Given the description of an element on the screen output the (x, y) to click on. 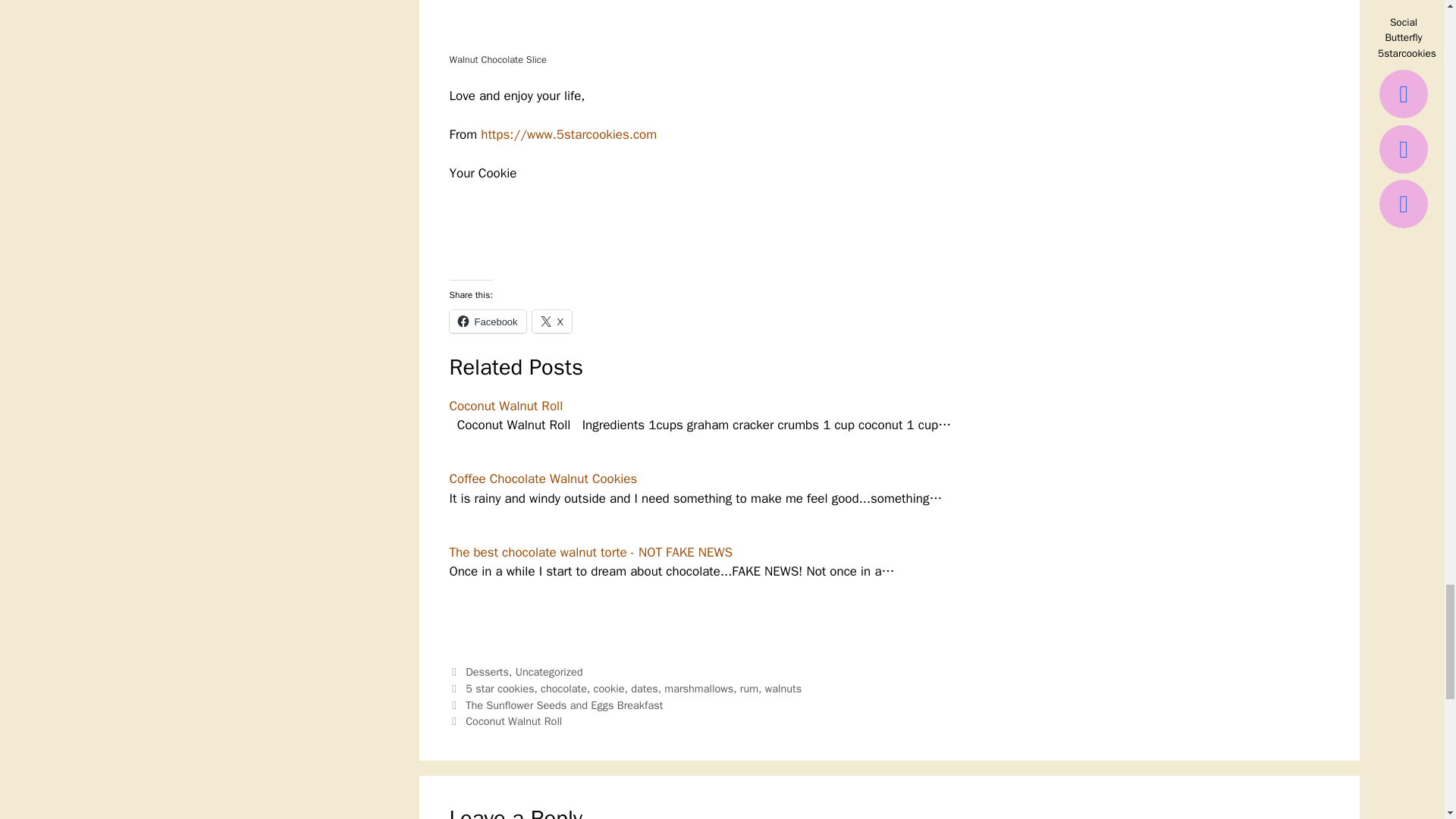
Click to share on X (552, 321)
Coffee Chocolate Walnut Cookies (542, 478)
cookie (609, 688)
Coconut Walnut Roll (505, 406)
marshmallows (698, 688)
Facebook (486, 321)
chocolate (563, 688)
Click to share on Facebook (486, 321)
Uncategorized (549, 671)
dates (644, 688)
